Given the description of an element on the screen output the (x, y) to click on. 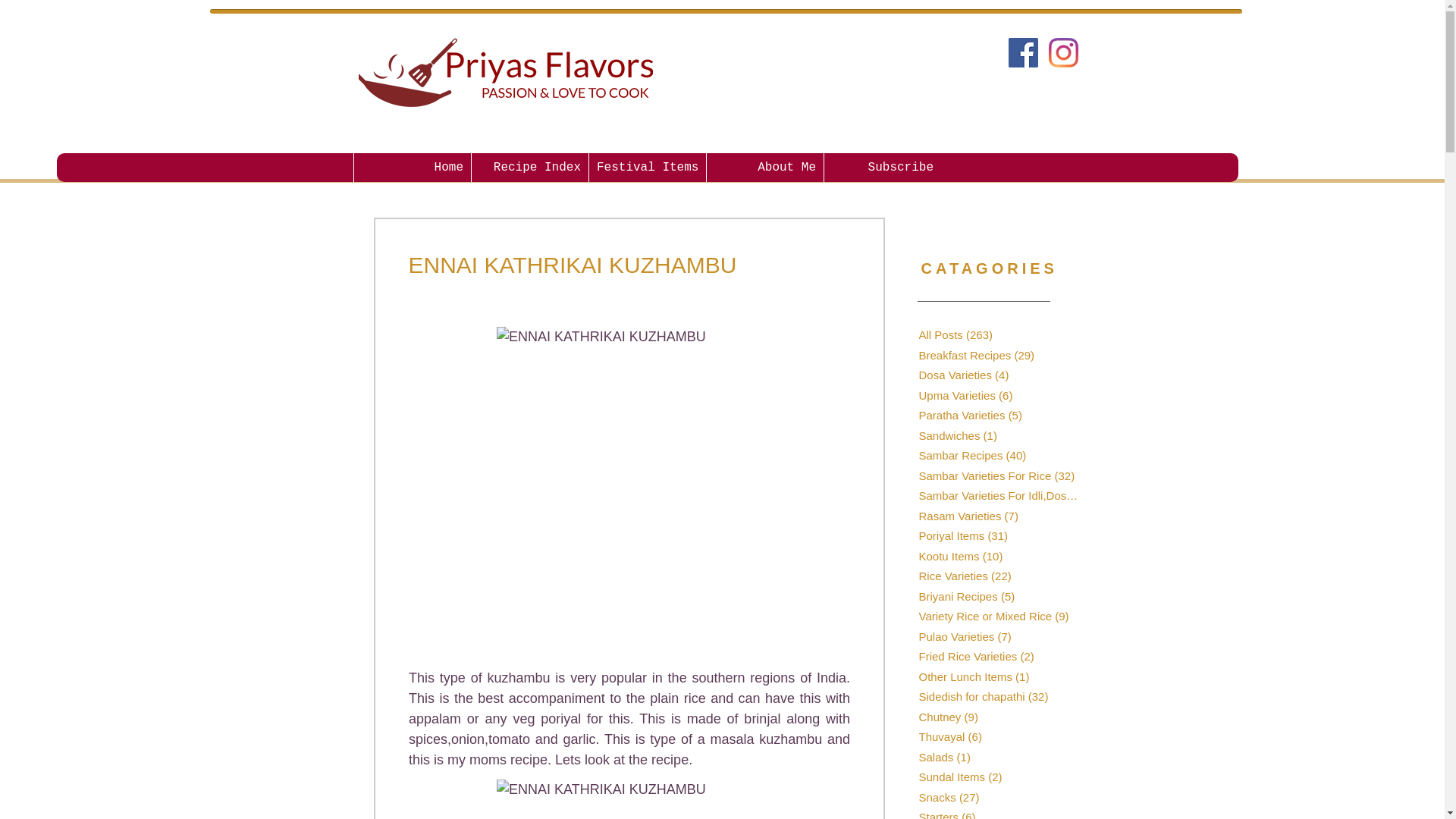
Home (411, 167)
Recipe Index (529, 167)
Festival Items (647, 167)
About Me (765, 167)
Subscribe (882, 167)
